Given the description of an element on the screen output the (x, y) to click on. 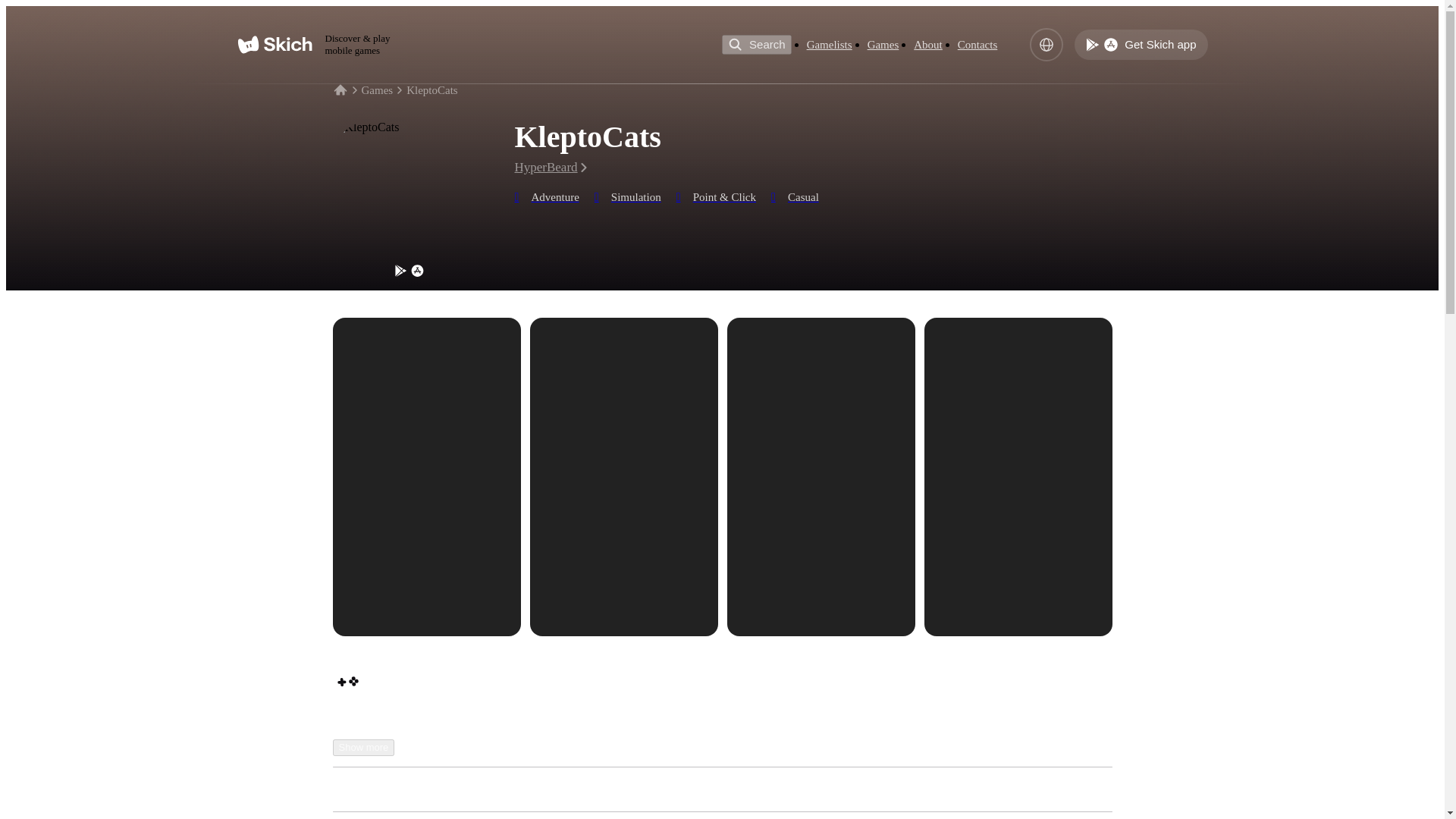
Get Skich app (1140, 44)
Games (377, 90)
HyperBeard (551, 167)
Gamelists (828, 45)
HyperBeard (429, 788)
Games (883, 45)
Contacts (977, 45)
Show more (362, 747)
Search (757, 44)
About (928, 45)
